Given the description of an element on the screen output the (x, y) to click on. 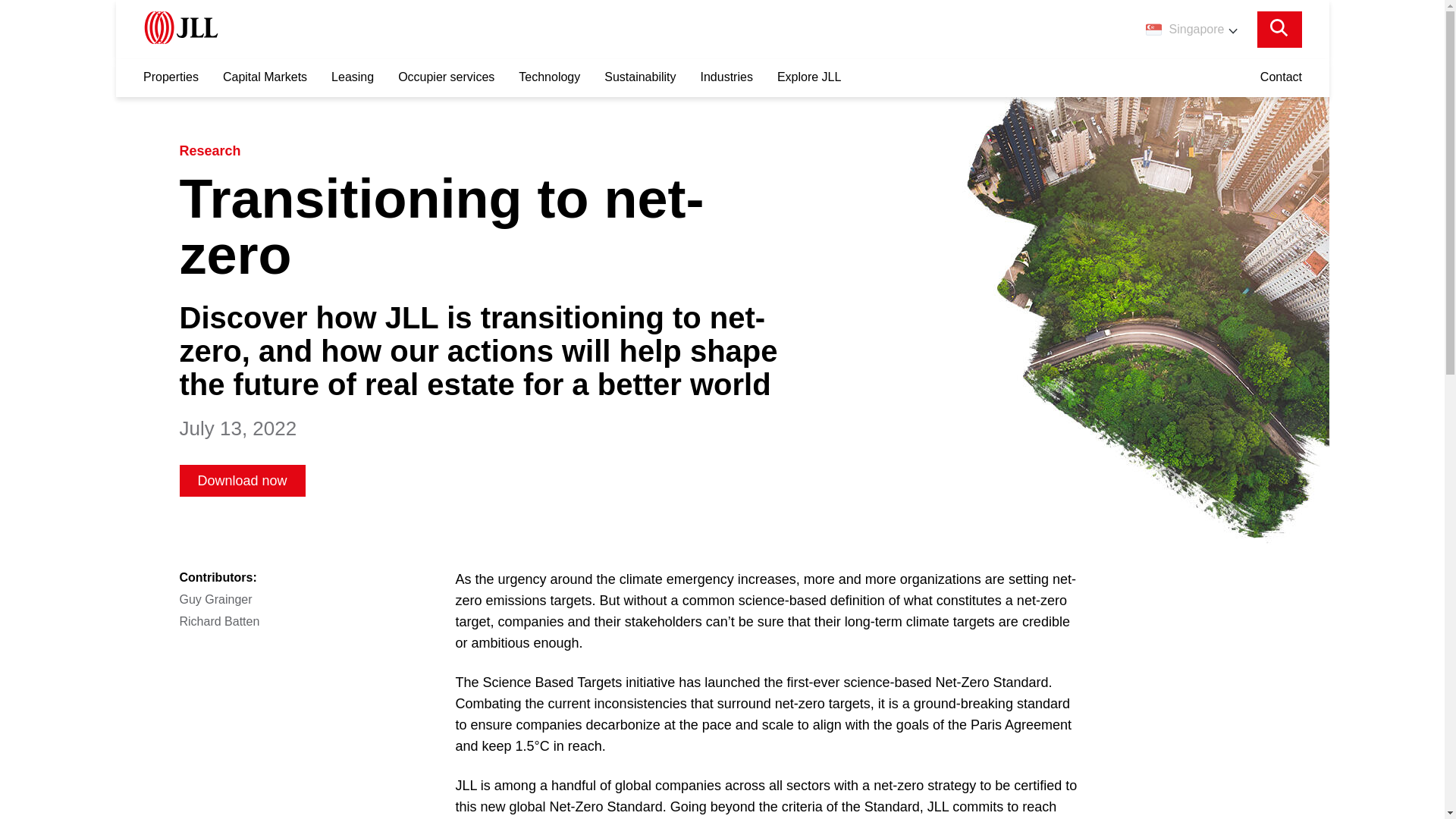
Singapore (1191, 29)
